Given the description of an element on the screen output the (x, y) to click on. 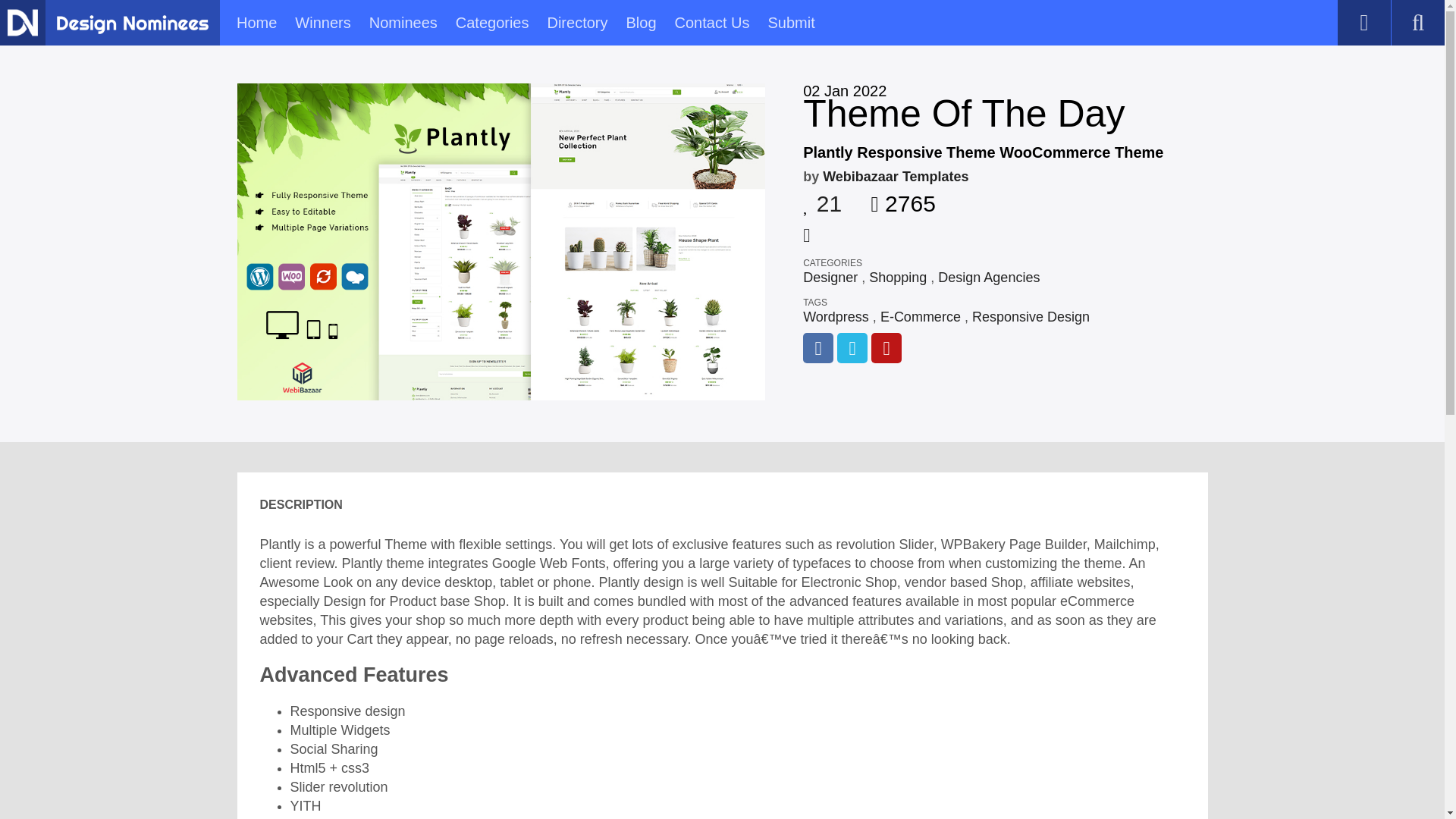
Webibazaar Templates (895, 176)
Submit (790, 22)
Categories (492, 22)
Winners (322, 22)
Designer (830, 277)
Contact Us (712, 22)
Wordpress (836, 316)
Design Nominees (132, 24)
Shopping (897, 277)
Design Agencies (988, 277)
Design Nominees (22, 22)
Directory (577, 22)
Nominees (403, 22)
21 (822, 198)
